Given the description of an element on the screen output the (x, y) to click on. 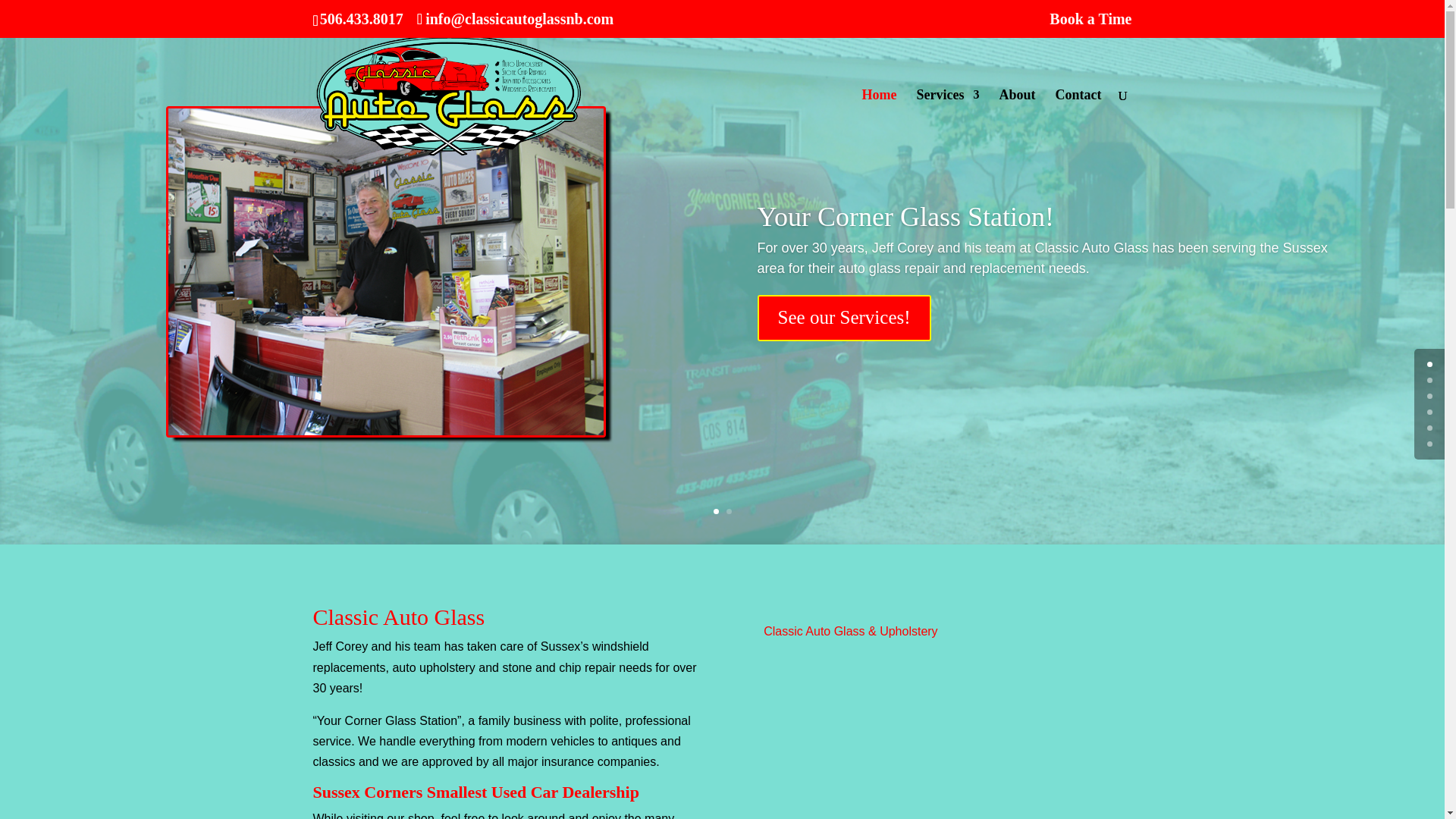
Book a Time (1090, 24)
Your Corner Glass Station! (905, 271)
2 (729, 511)
See our Services! (844, 371)
